Given the description of an element on the screen output the (x, y) to click on. 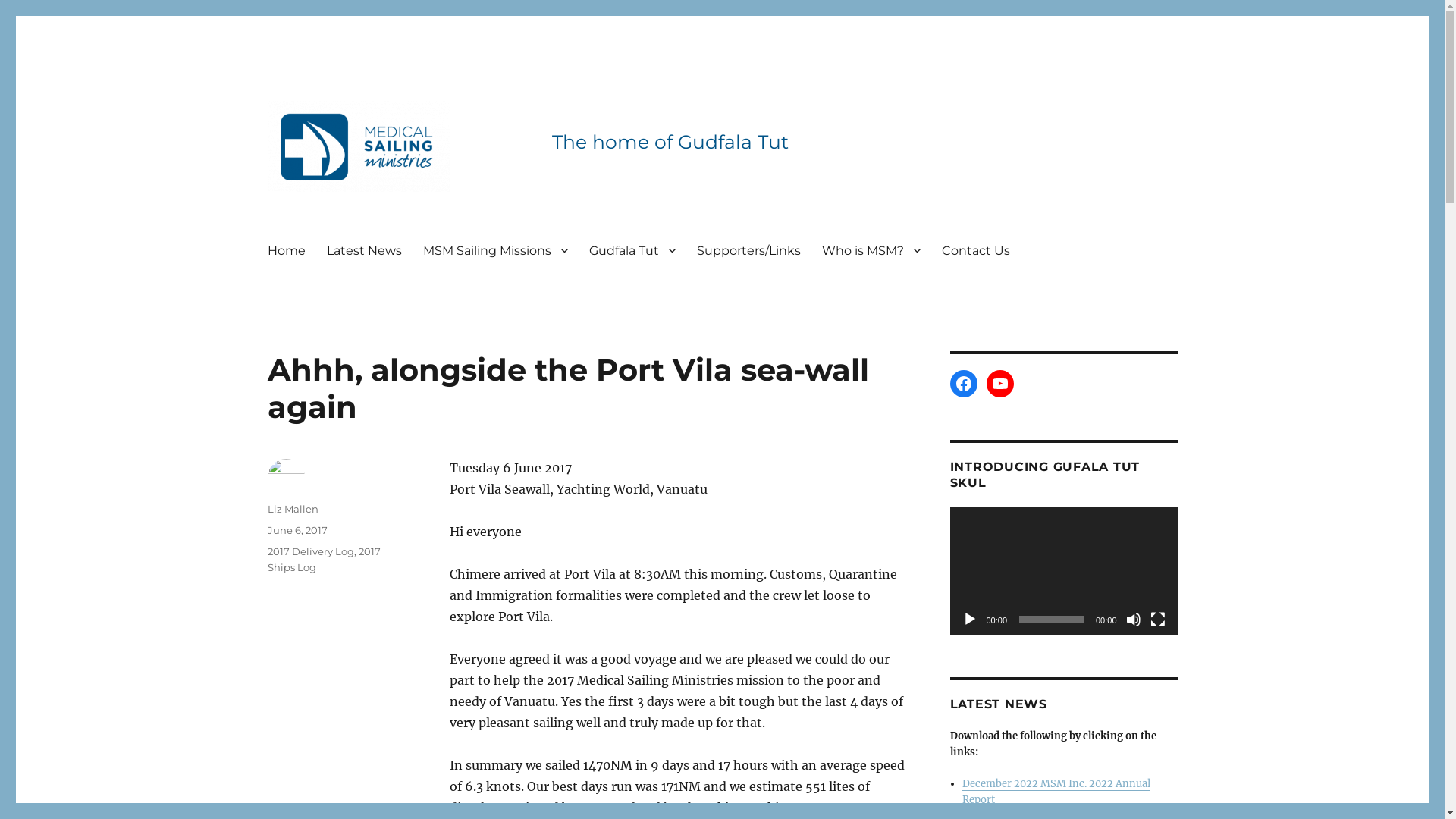
2017 Ships Log Element type: text (322, 559)
Gudfala Tut Element type: text (631, 250)
Play Element type: hover (968, 619)
Supporters/Links Element type: text (747, 250)
2017 Delivery Log Element type: text (309, 551)
Latest News Element type: text (363, 250)
December 2022 MSM Inc. 2022 Annual Report Element type: text (1056, 791)
Who is MSM? Element type: text (871, 250)
Liz Mallen Element type: text (291, 508)
Contact Us Element type: text (975, 250)
MSM Sailing Missions Element type: text (495, 250)
June 6, 2017 Element type: text (296, 530)
Mute Element type: hover (1132, 619)
Home Element type: text (285, 250)
Fullscreen Element type: hover (1156, 619)
